Given the description of an element on the screen output the (x, y) to click on. 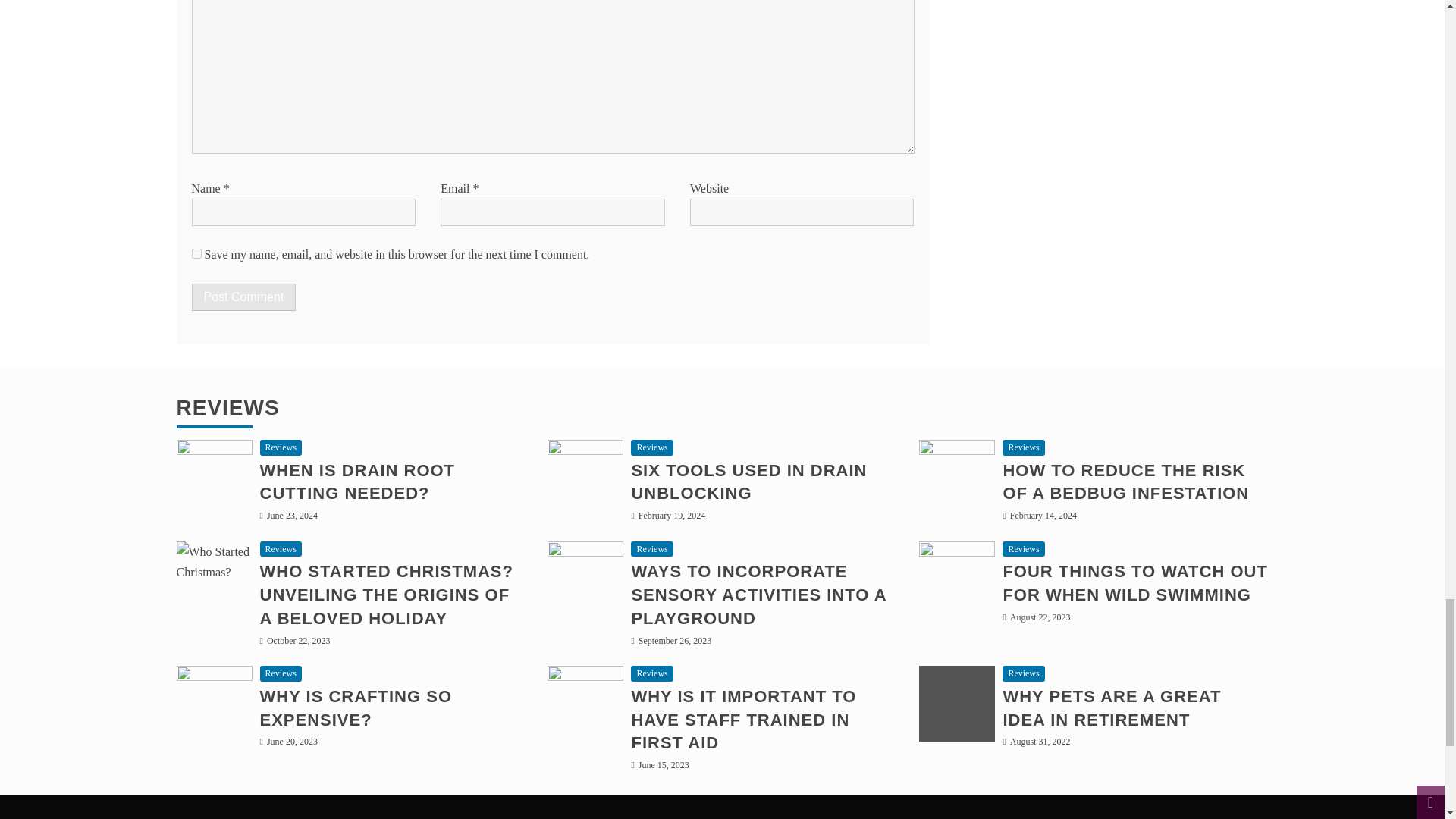
yes (195, 253)
Post Comment (242, 297)
